Given the description of an element on the screen output the (x, y) to click on. 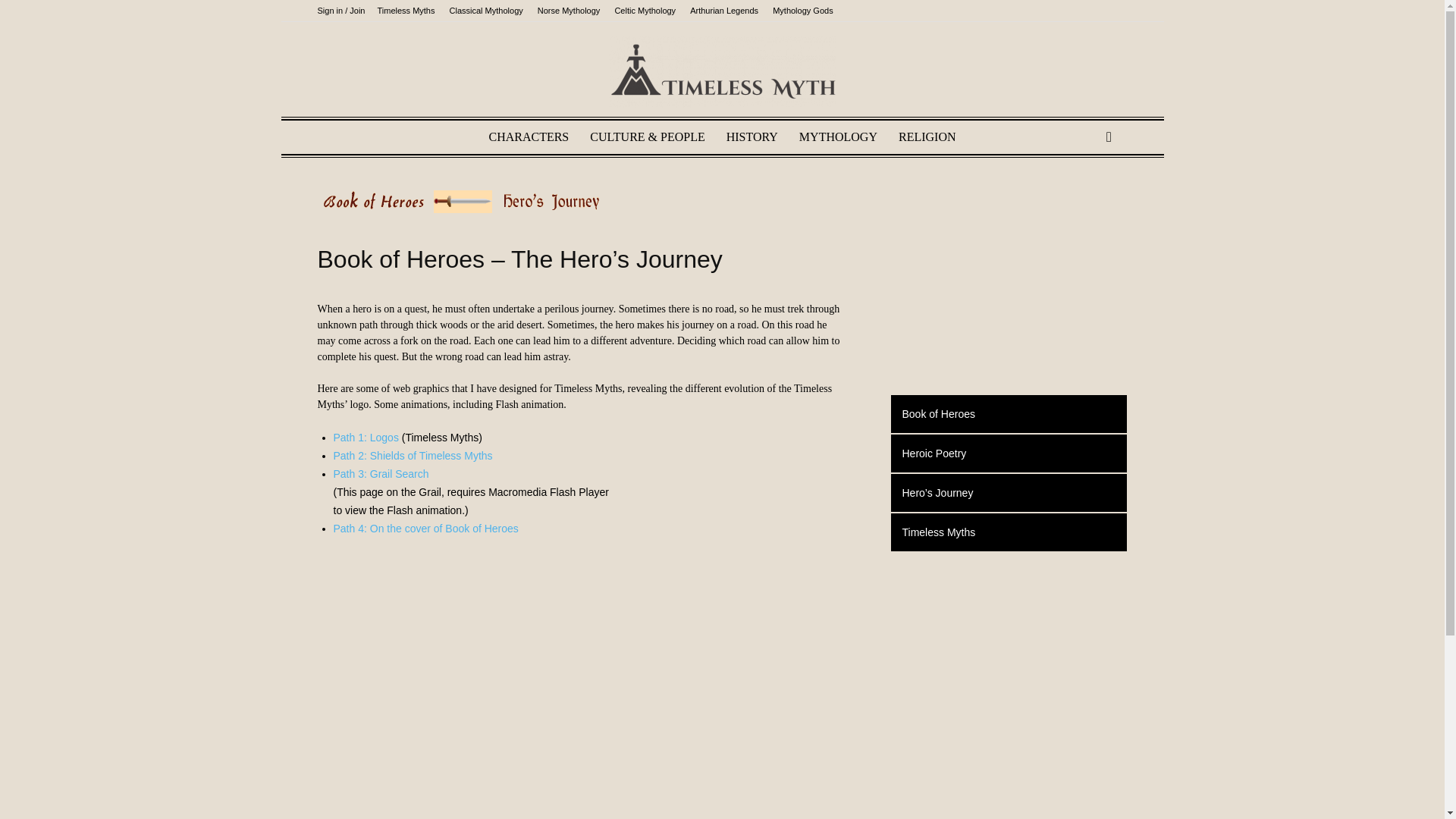
Path 1: Logos (365, 437)
RELIGION (927, 136)
Timeless Myths (722, 71)
MYTHOLOGY (838, 136)
Classical Mythology (485, 10)
CHARACTERS (528, 136)
Mythology Gods (802, 10)
Search (1085, 196)
Arthurian Legends (724, 10)
Celtic Mythology (644, 10)
HISTORY (752, 136)
Path 3: Grail Search (381, 473)
Timeless Myths (405, 10)
Path 2: Shields of Timeless Myths (413, 455)
Norse Mythology (568, 10)
